Given the description of an element on the screen output the (x, y) to click on. 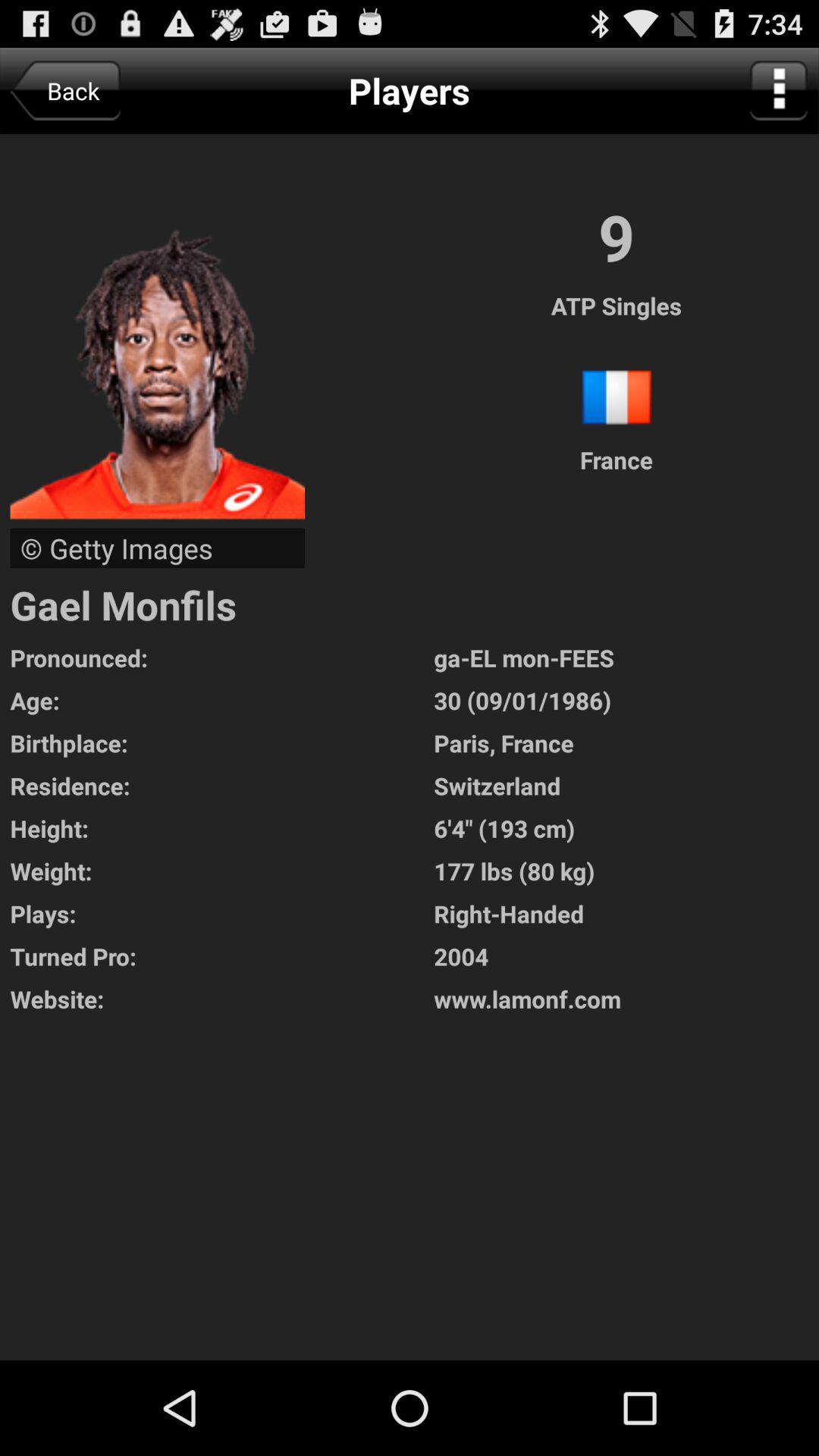
swipe to the 2004 icon (626, 956)
